Given the description of an element on the screen output the (x, y) to click on. 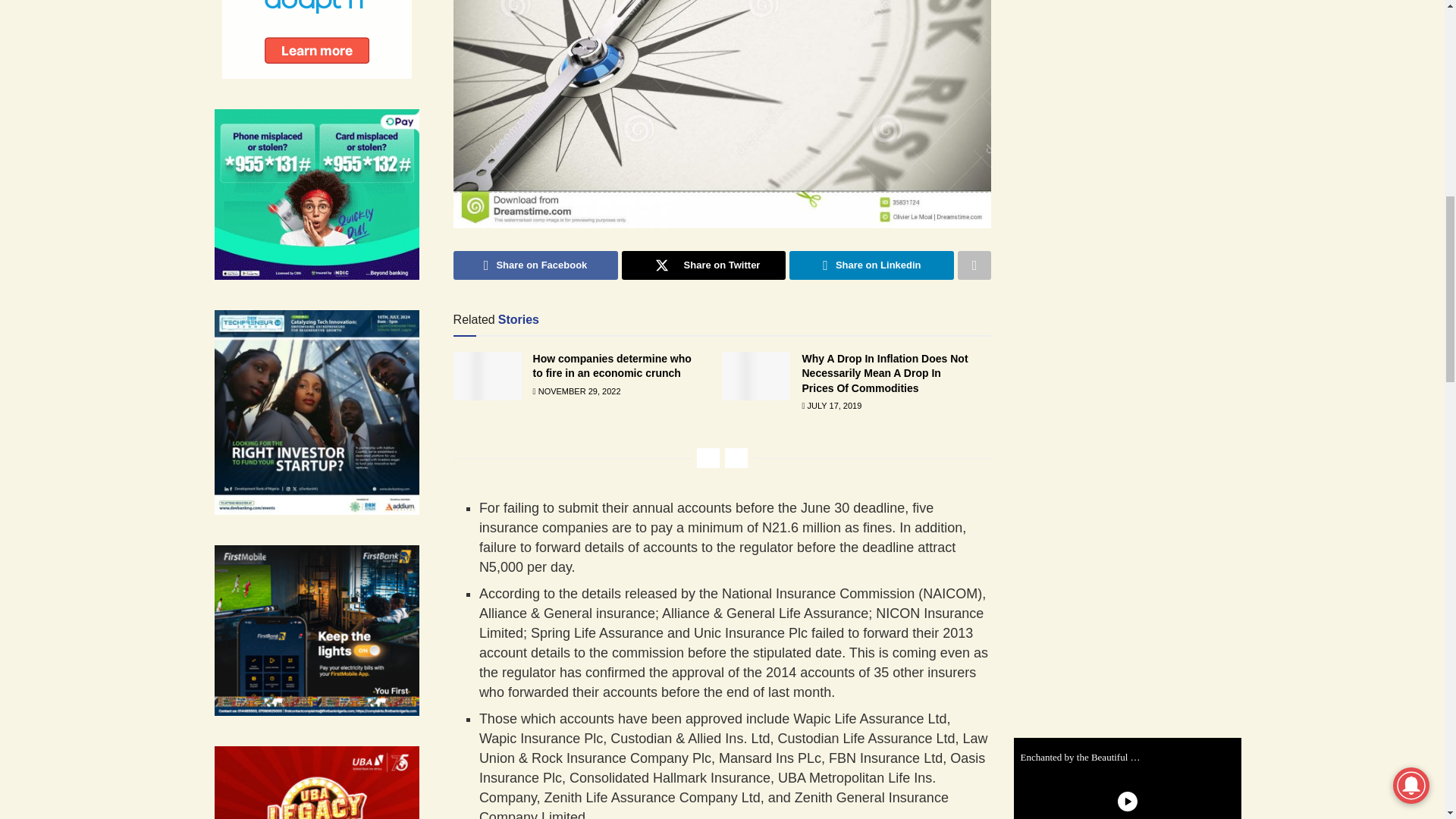
Previous (708, 457)
Advertisement (1138, 61)
Next (736, 457)
